Given the description of an element on the screen output the (x, y) to click on. 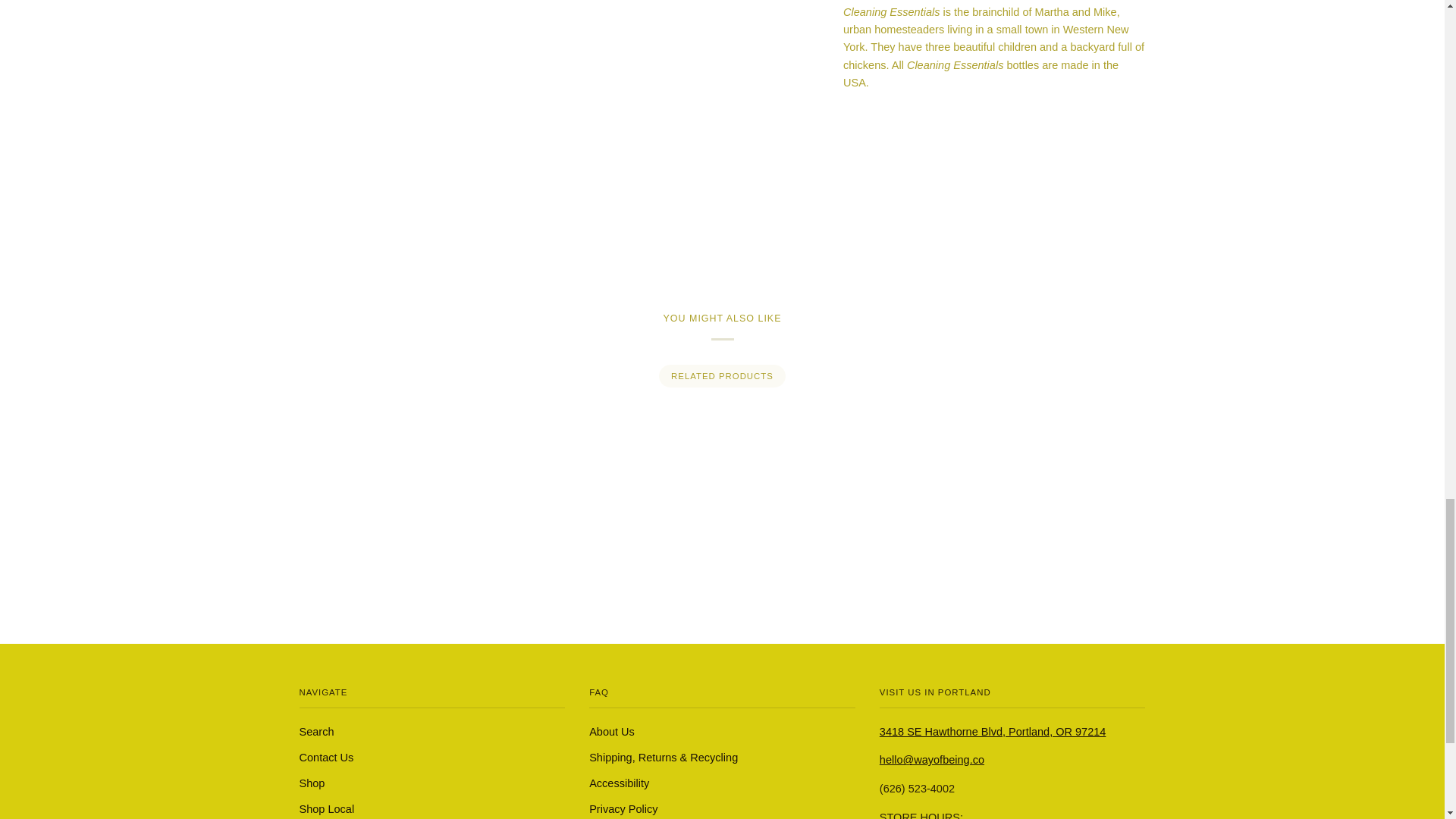
RELATED PRODUCTS (721, 375)
